Given the description of an element on the screen output the (x, y) to click on. 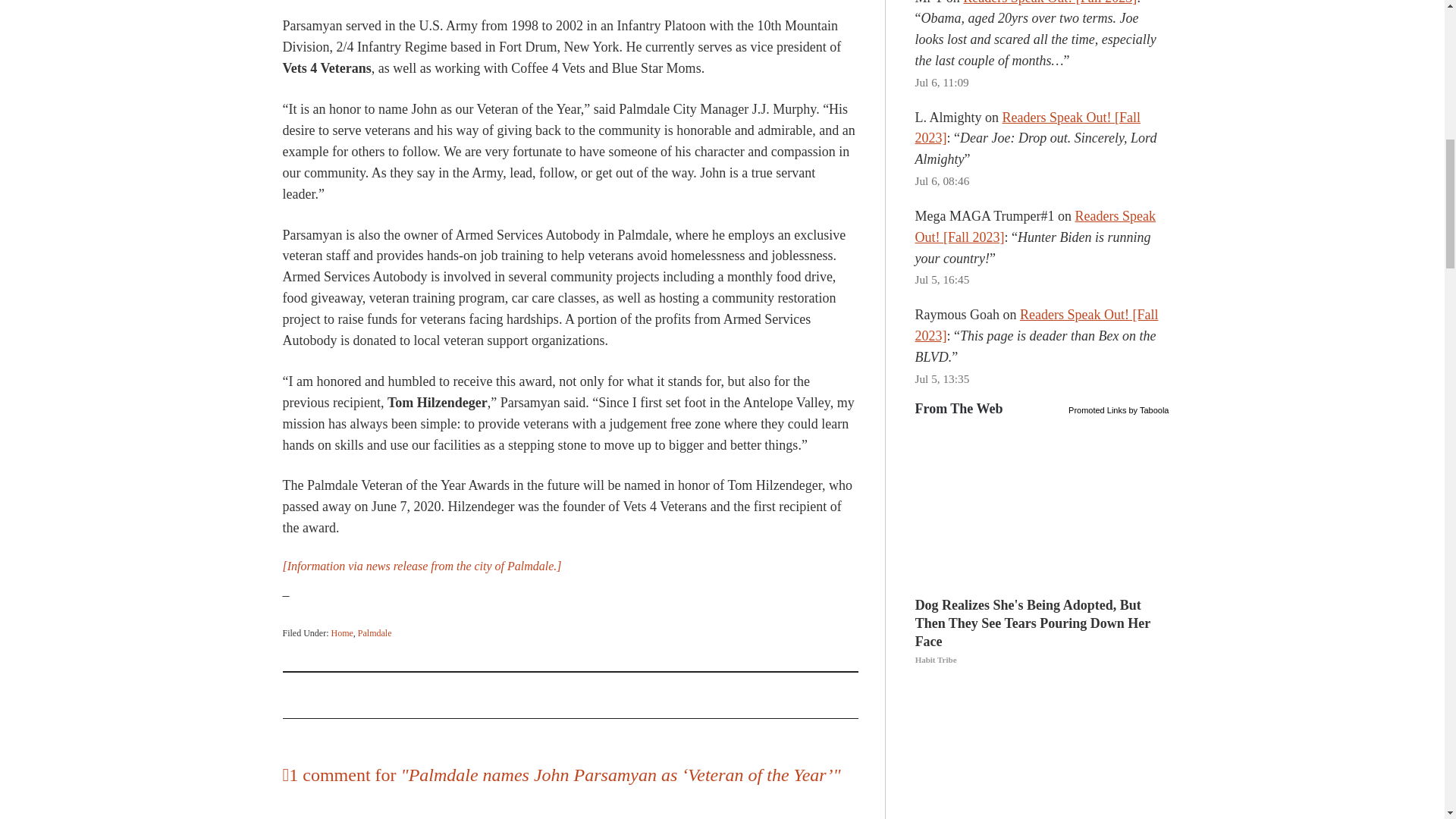
Palmdale (374, 633)
Promoted Links (1096, 408)
by Taboola (1148, 408)
Home (341, 633)
